Given the description of an element on the screen output the (x, y) to click on. 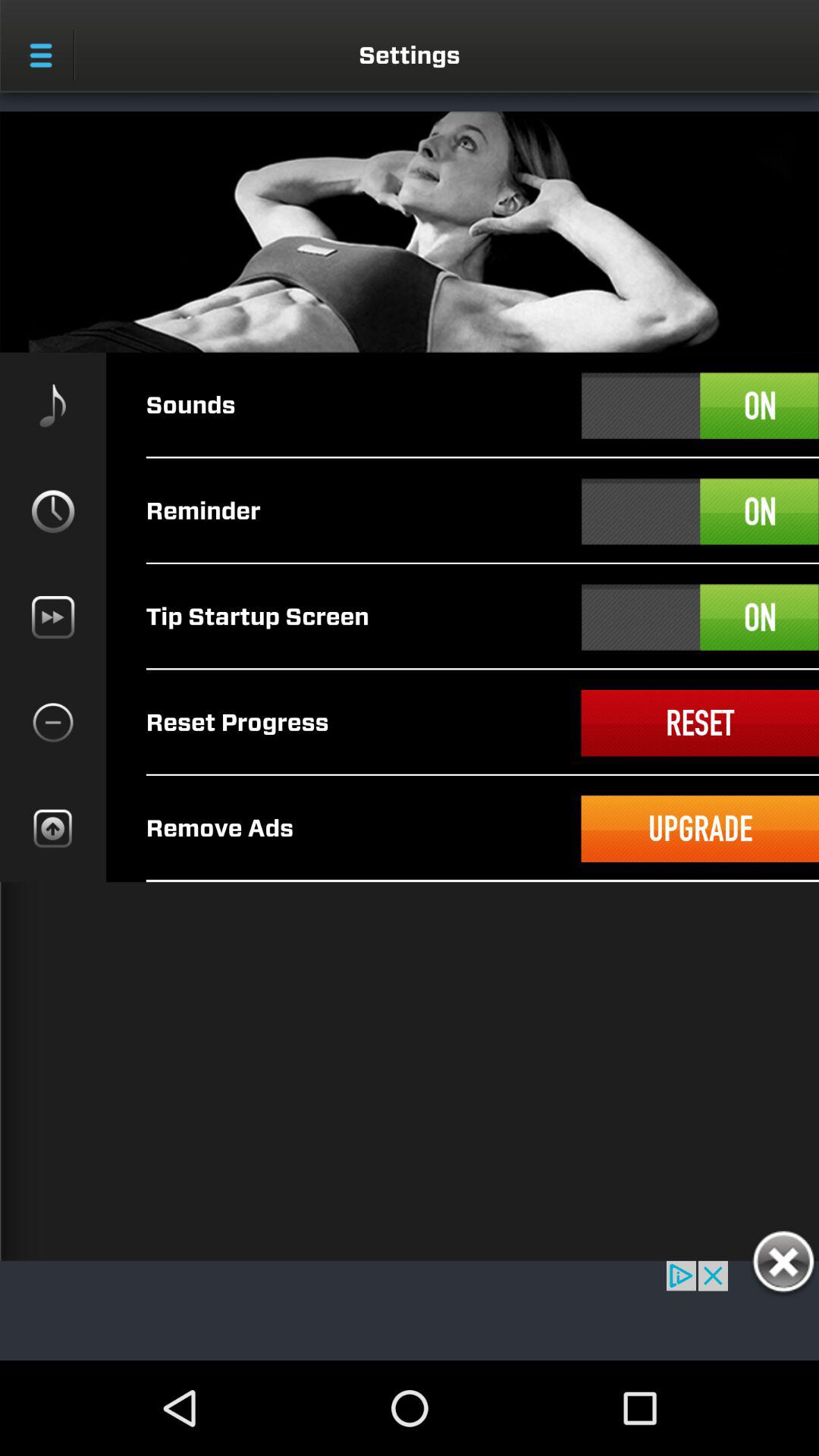
turn sounds on (700, 405)
